Given the description of an element on the screen output the (x, y) to click on. 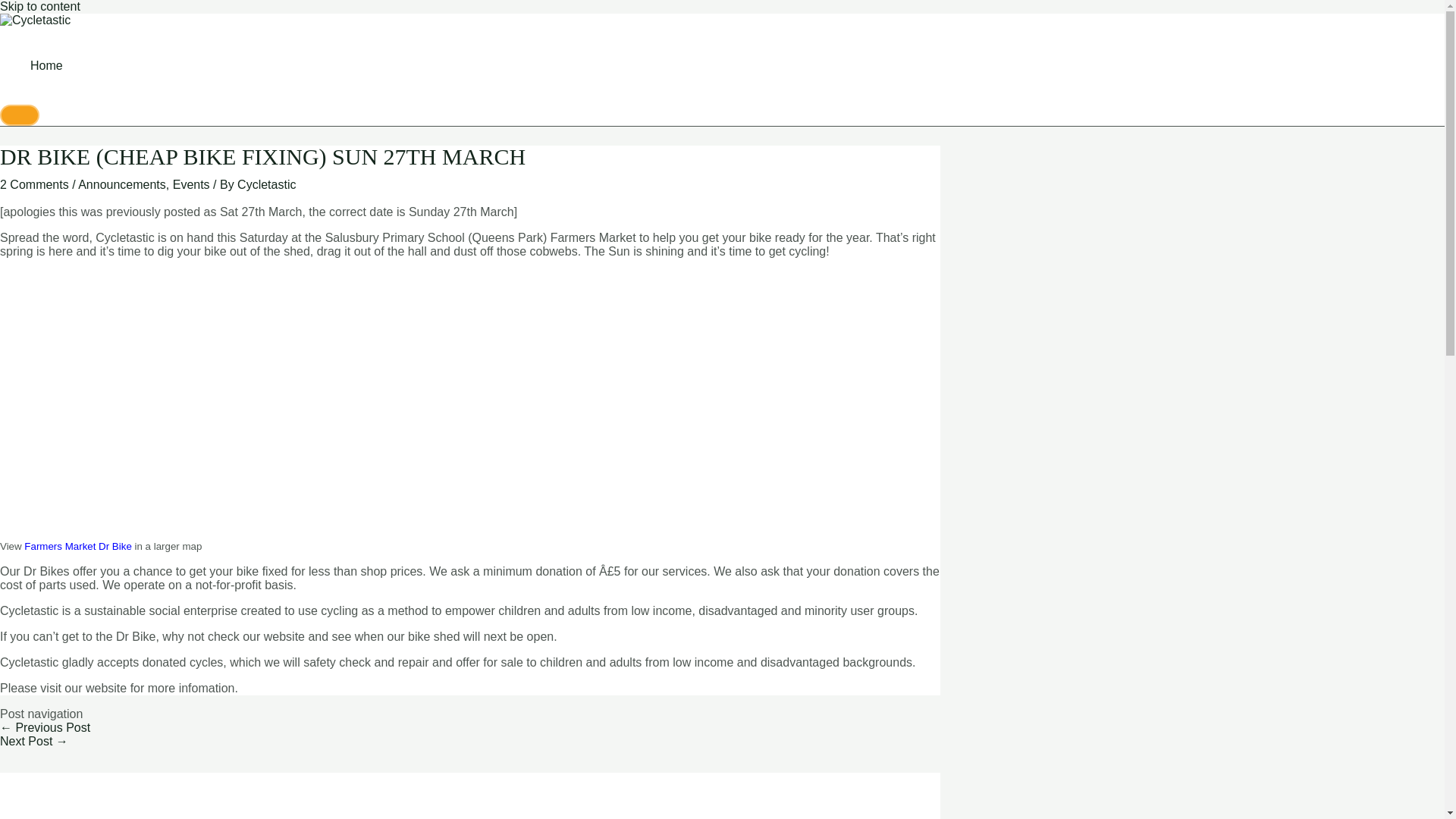
Farmers Market Dr Bike (77, 546)
Cycletastic (266, 184)
Skip to content (40, 6)
Events (191, 184)
Announcements (121, 184)
View all posts by Cycletastic (266, 184)
2 Comments (34, 184)
Skip to content (40, 6)
